Given the description of an element on the screen output the (x, y) to click on. 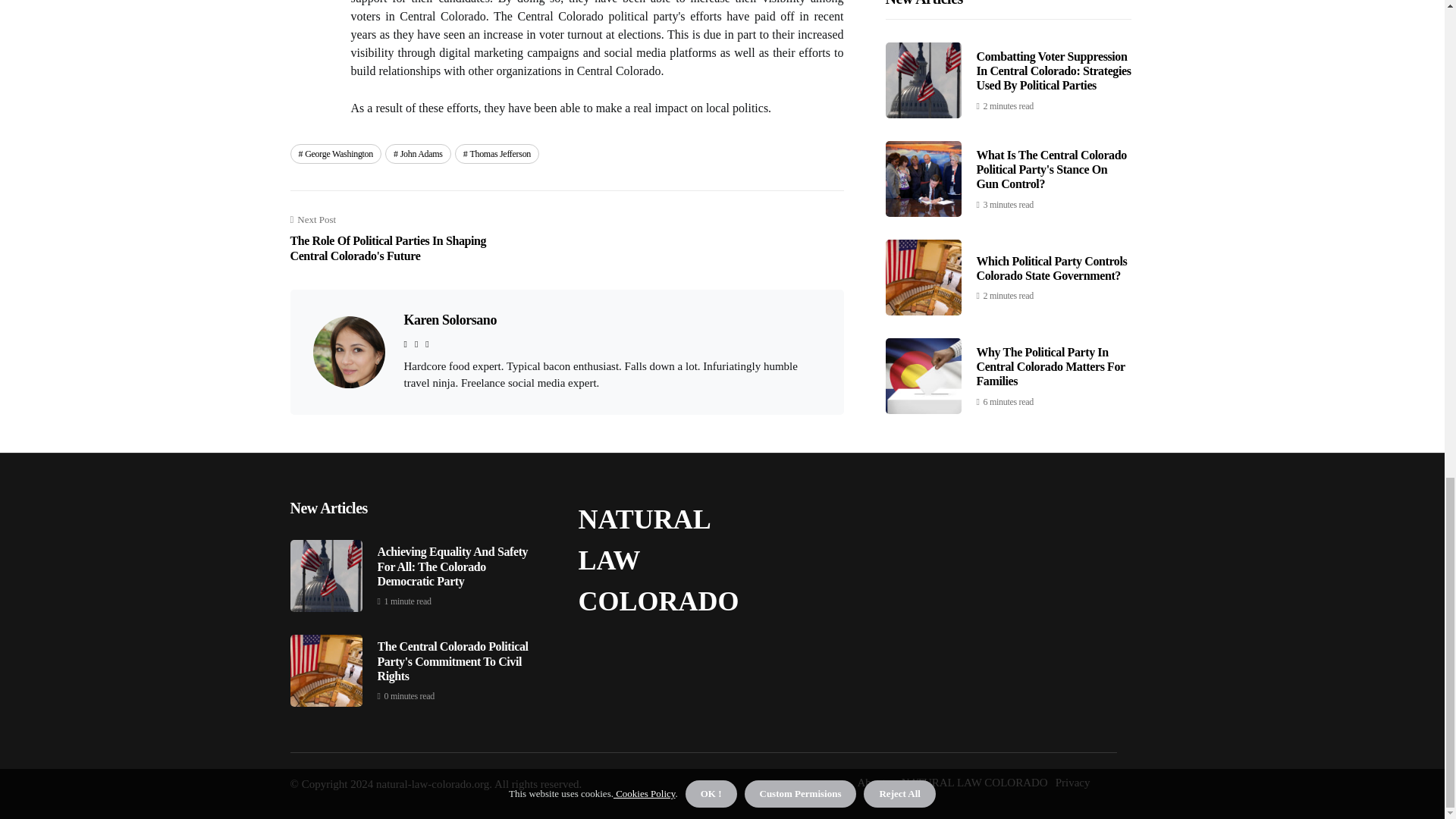
Karen Solorsano (449, 319)
George Washington (335, 153)
John Adams (418, 153)
Thomas Jefferson (496, 153)
